Given the description of an element on the screen output the (x, y) to click on. 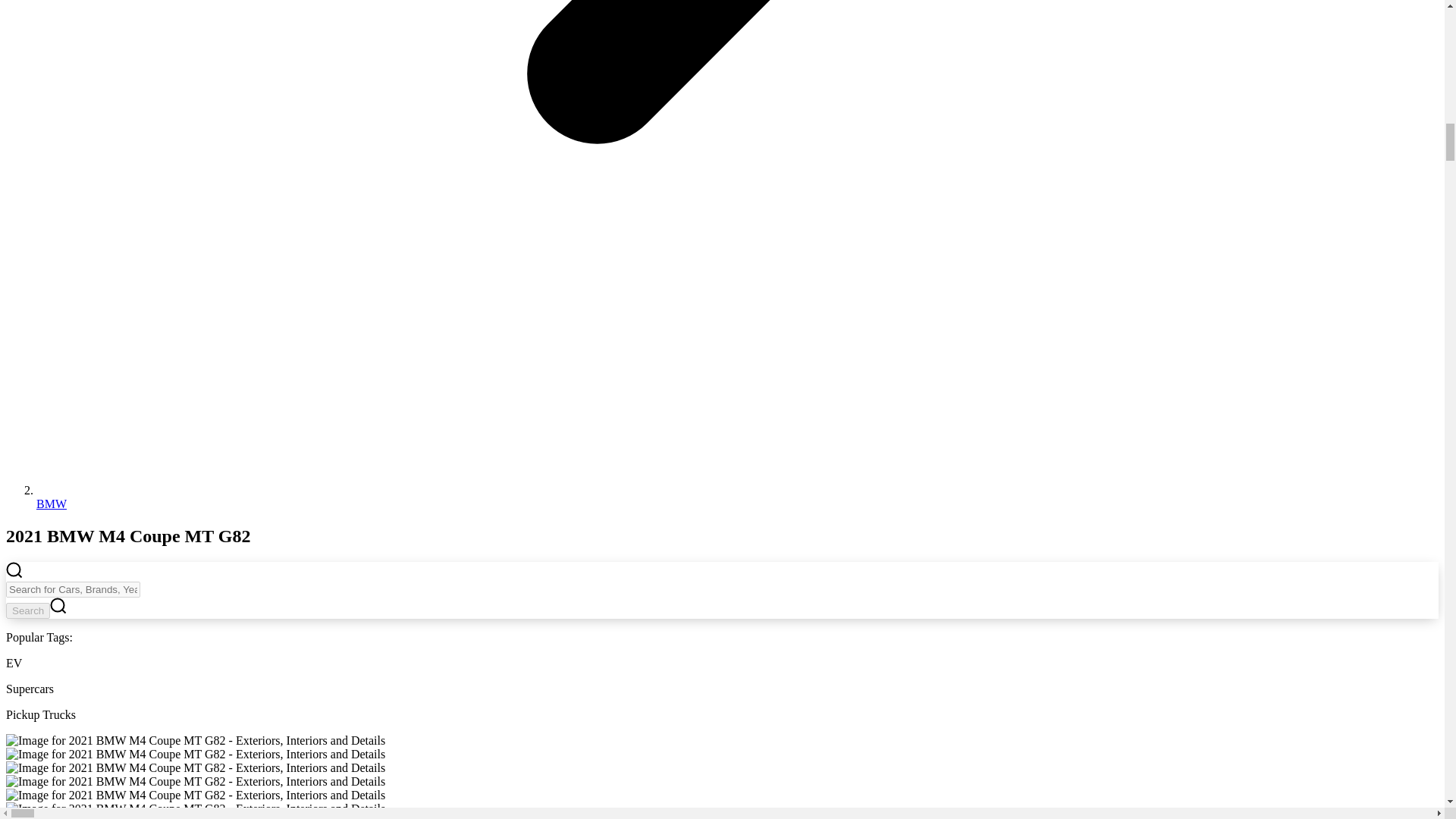
BMW (51, 503)
Search (27, 610)
